Given the description of an element on the screen output the (x, y) to click on. 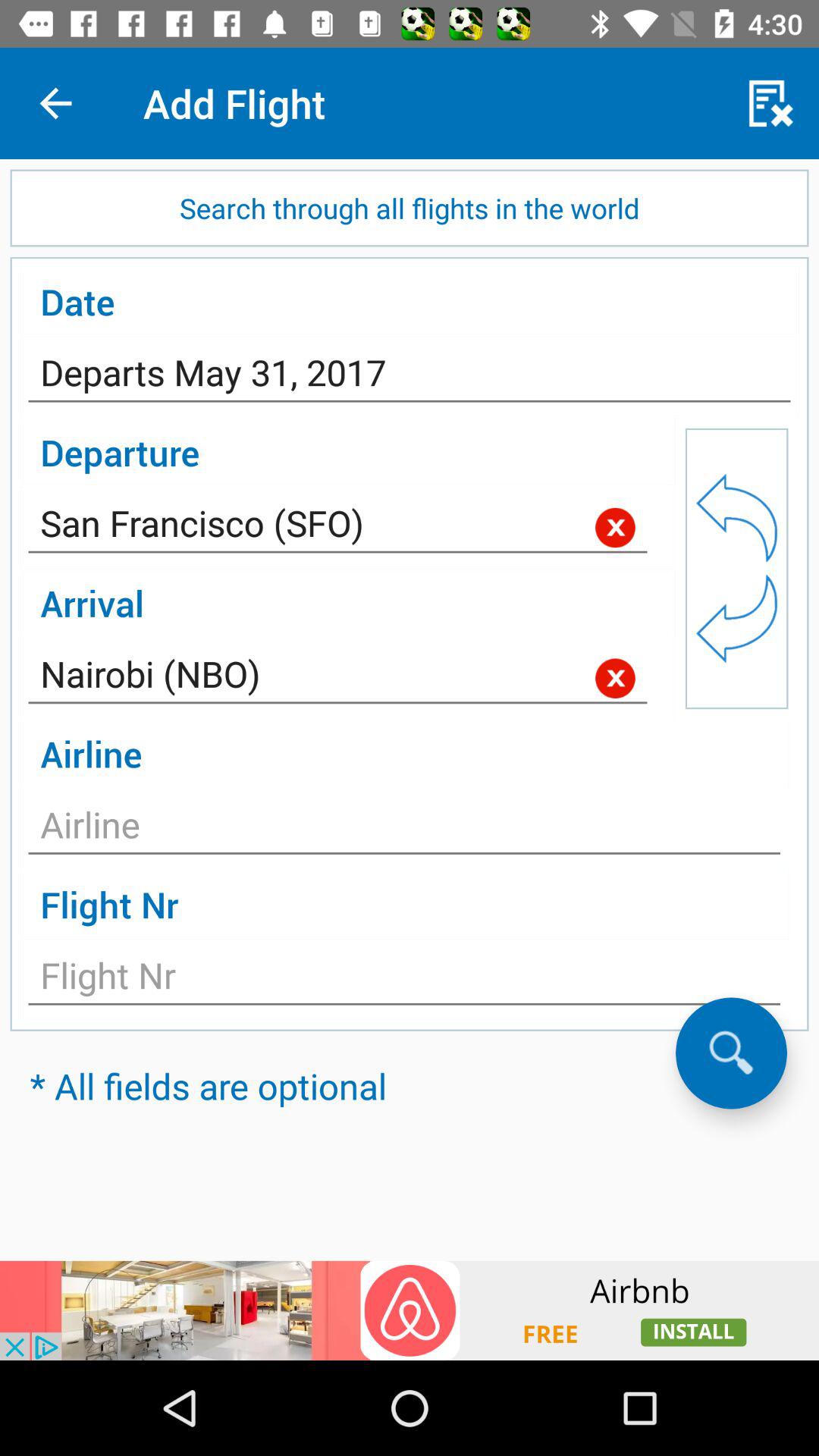
enter text in the flight nr field (404, 979)
